Given the description of an element on the screen output the (x, y) to click on. 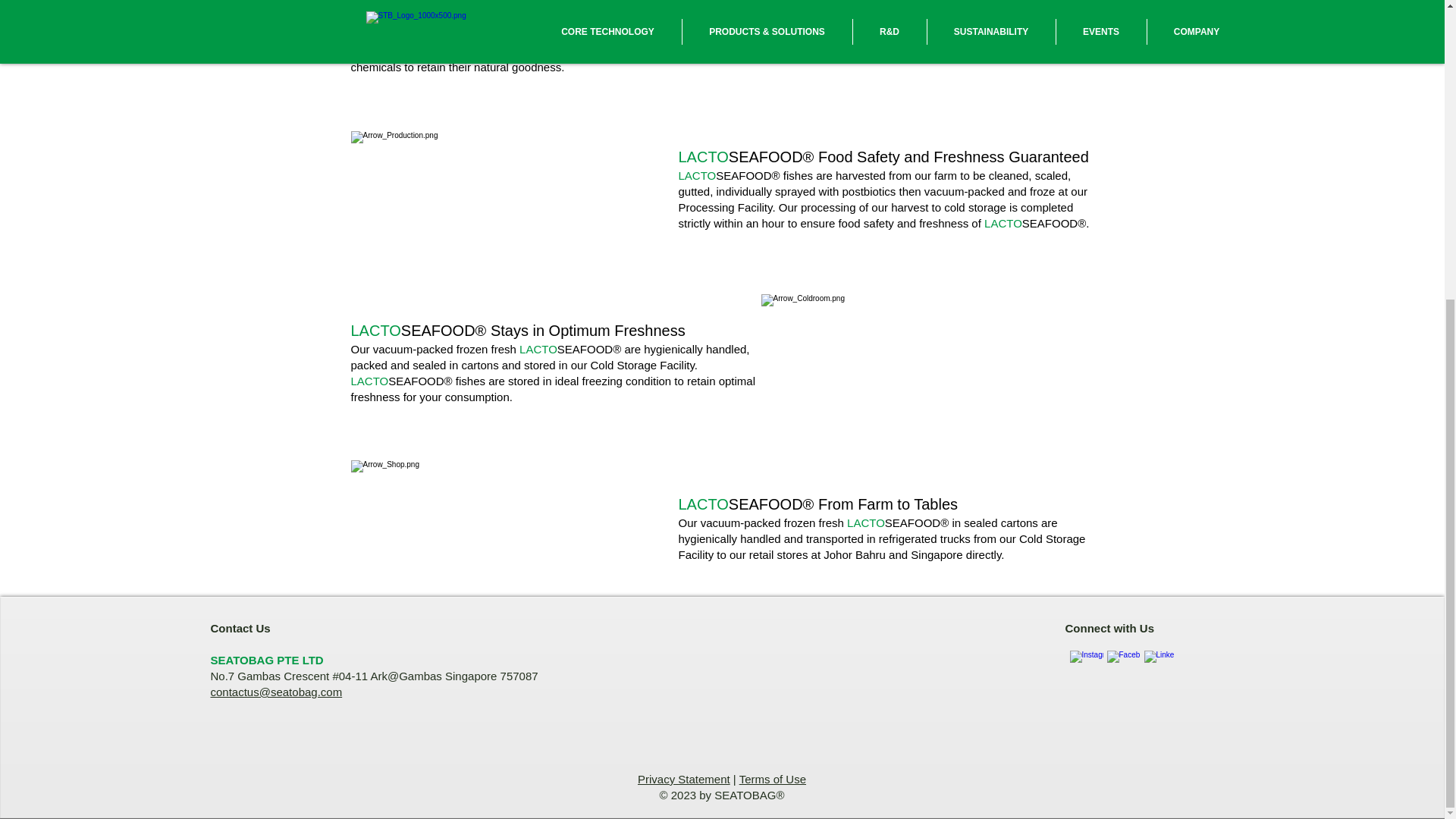
Terms of Use (772, 779)
Privacy Statement (683, 779)
